Given the description of an element on the screen output the (x, y) to click on. 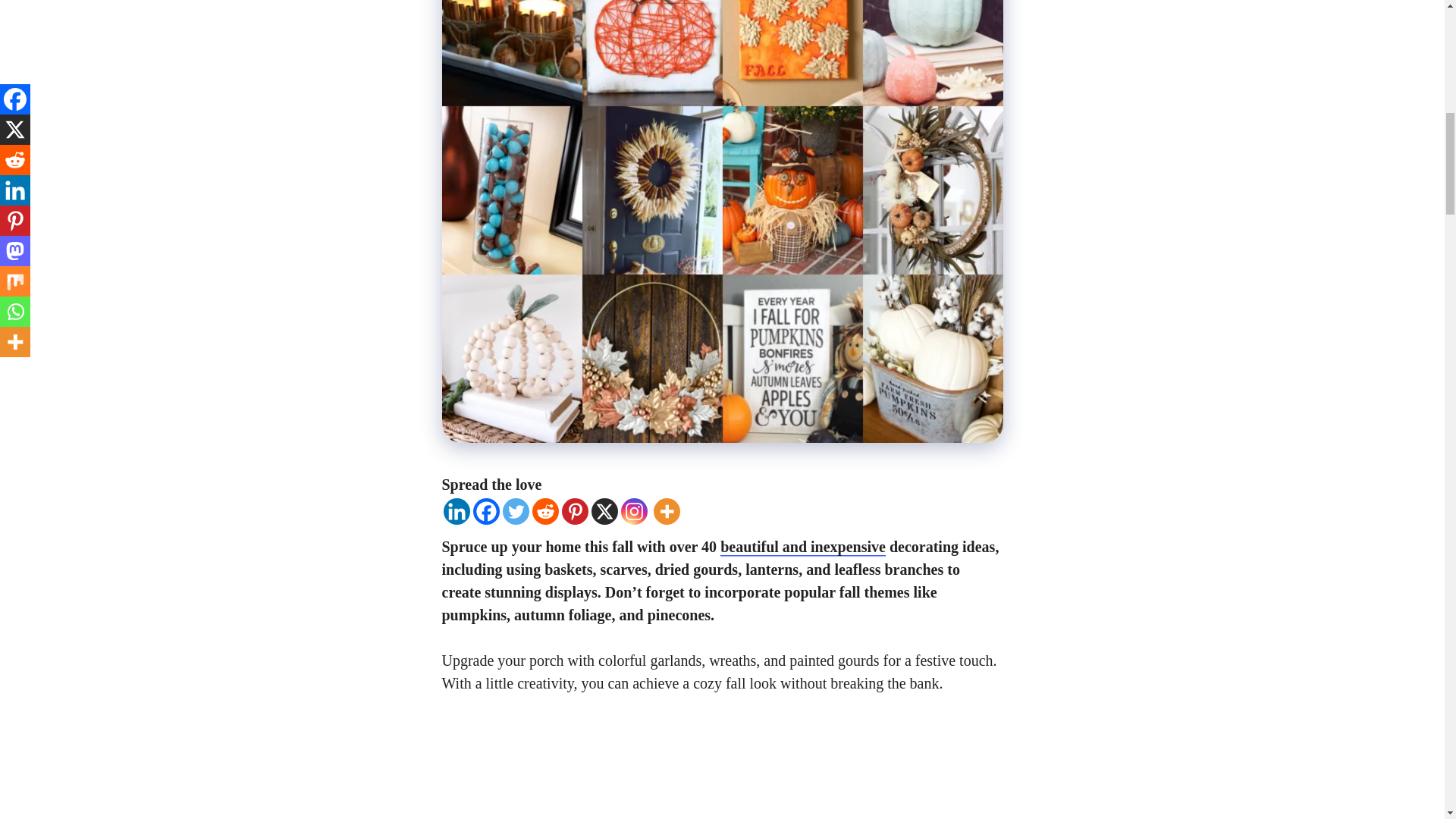
More (666, 510)
X (604, 510)
Pinterest (574, 510)
Twitter (515, 510)
Instagram (633, 510)
beautiful and inexpensive (802, 547)
Reddit (545, 510)
Facebook (486, 510)
Linkedin (455, 510)
